Given the description of an element on the screen output the (x, y) to click on. 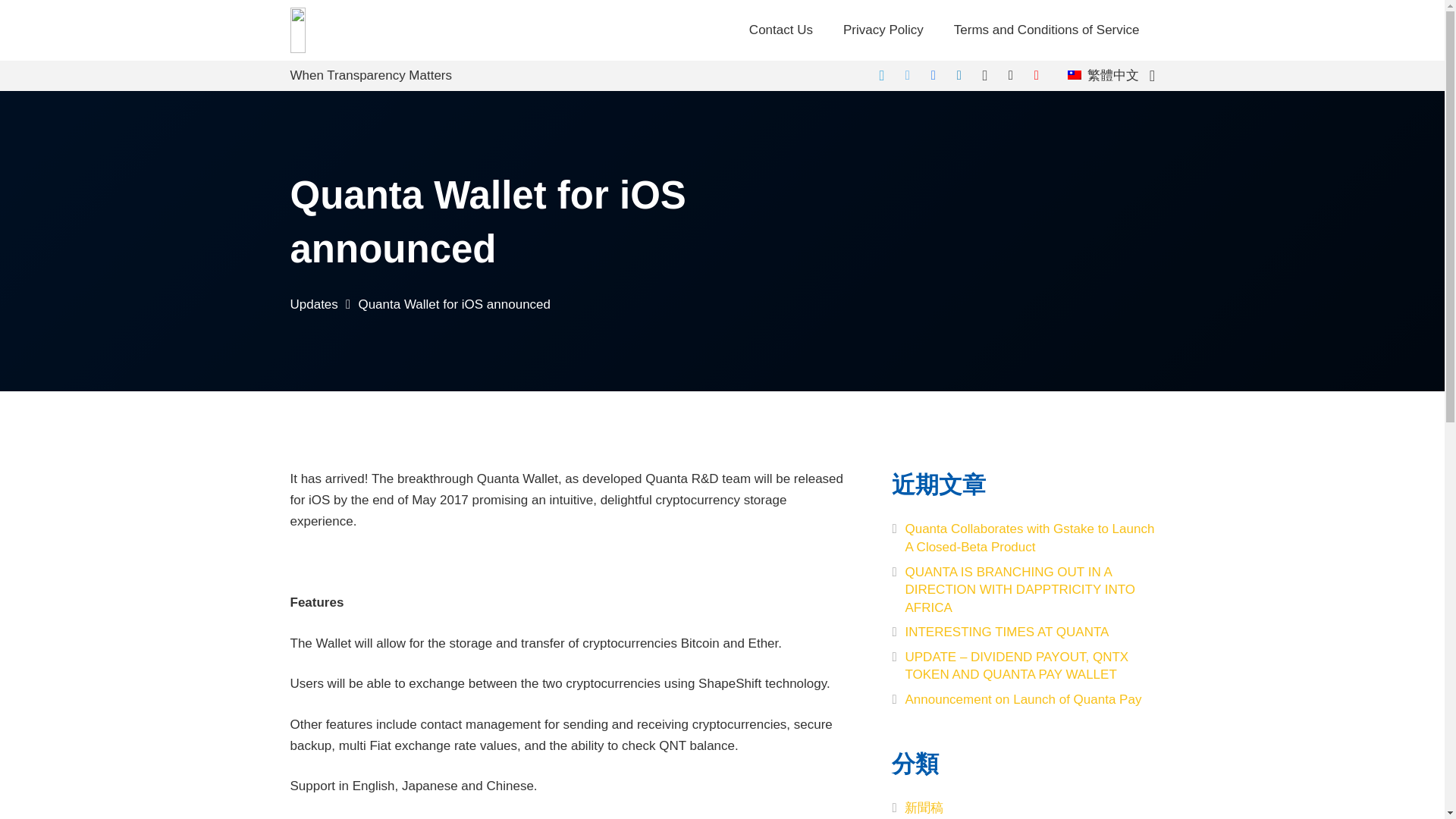
Updates (313, 304)
YouTube (1036, 75)
Facebook (933, 75)
Announcement on Launch of Quanta Pay (1022, 699)
Quanta Wallet for iOS announced (454, 304)
Instagram (984, 75)
Medium (1010, 75)
LinkedIn (959, 75)
Telegram (882, 75)
Privacy Policy (883, 30)
INTERESTING TIMES AT QUANTA (1006, 631)
Contact Us (780, 30)
Terms and Conditions of Service (1046, 30)
